Given the description of an element on the screen output the (x, y) to click on. 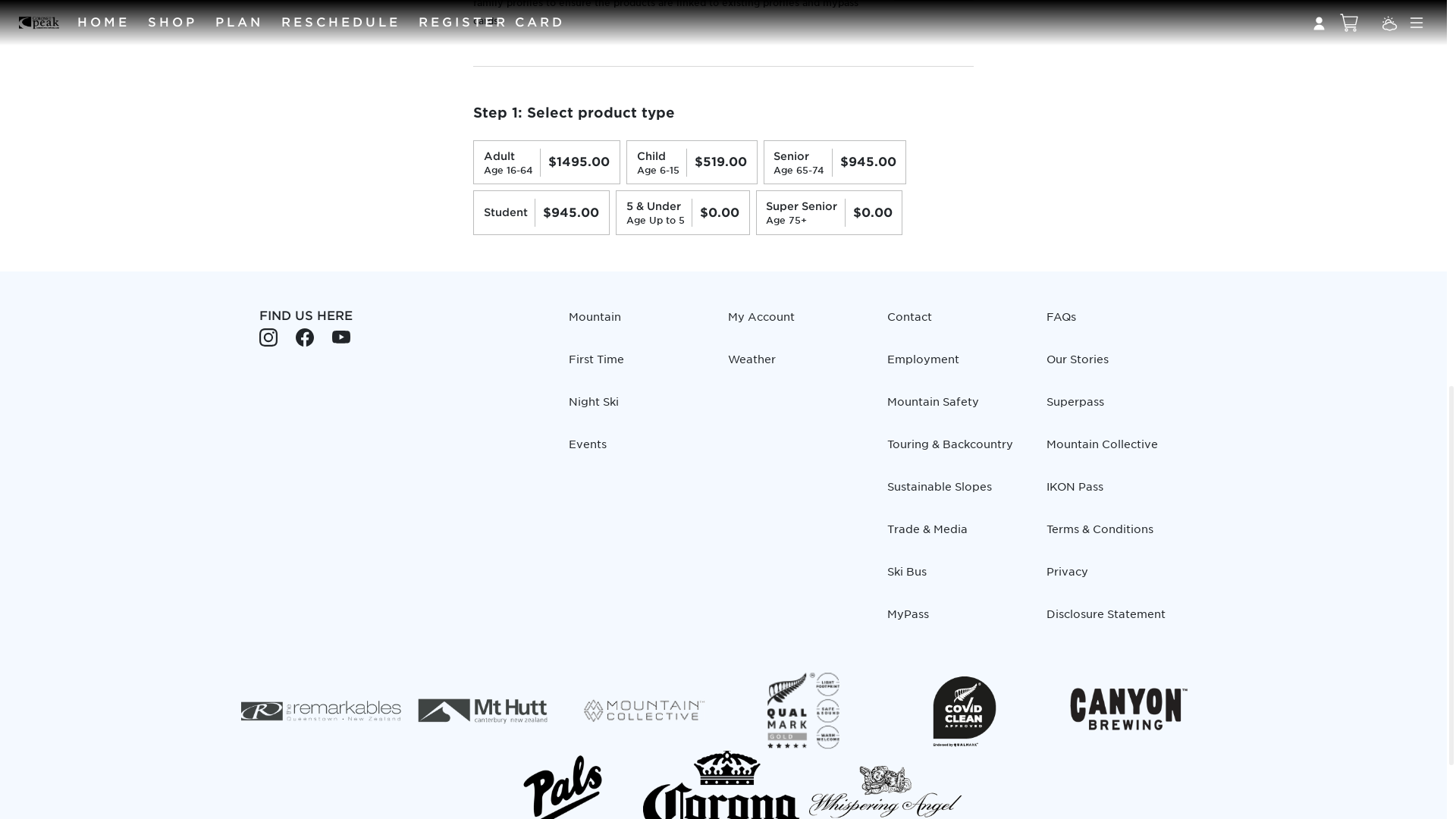
Events (639, 450)
Night Ski (639, 408)
Weather (798, 365)
Sustainable Slopes (956, 492)
Employment (956, 365)
Contact (956, 322)
MyPass (956, 620)
Mountain Safety (956, 408)
First Time (639, 365)
Mountain (639, 322)
My Account (798, 322)
Ski Bus (956, 577)
